Given the description of an element on the screen output the (x, y) to click on. 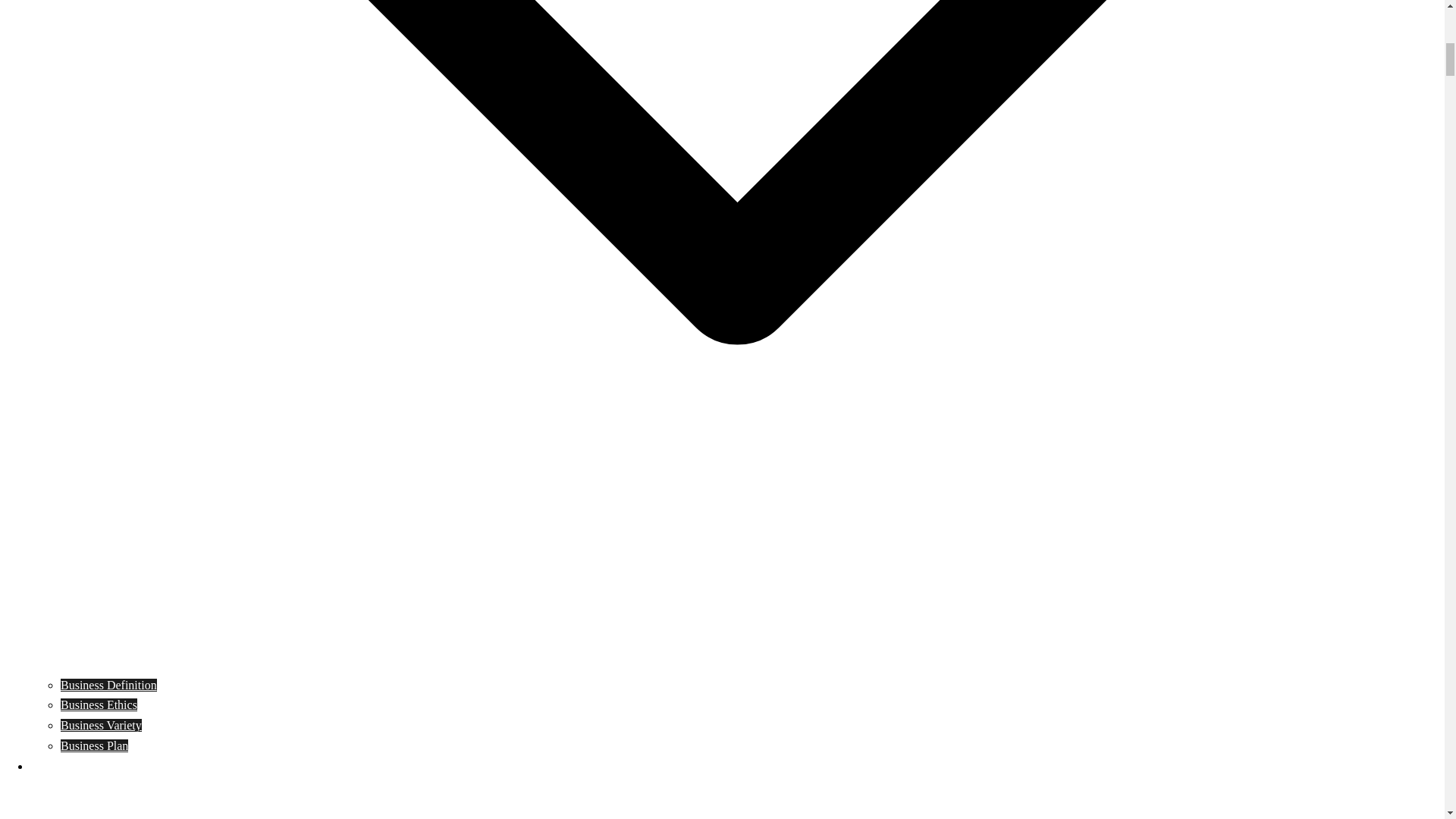
Advanced (55, 766)
Business Ethics (98, 704)
Business Definition (109, 684)
Business Variety (101, 725)
Business Plan (94, 745)
